Given the description of an element on the screen output the (x, y) to click on. 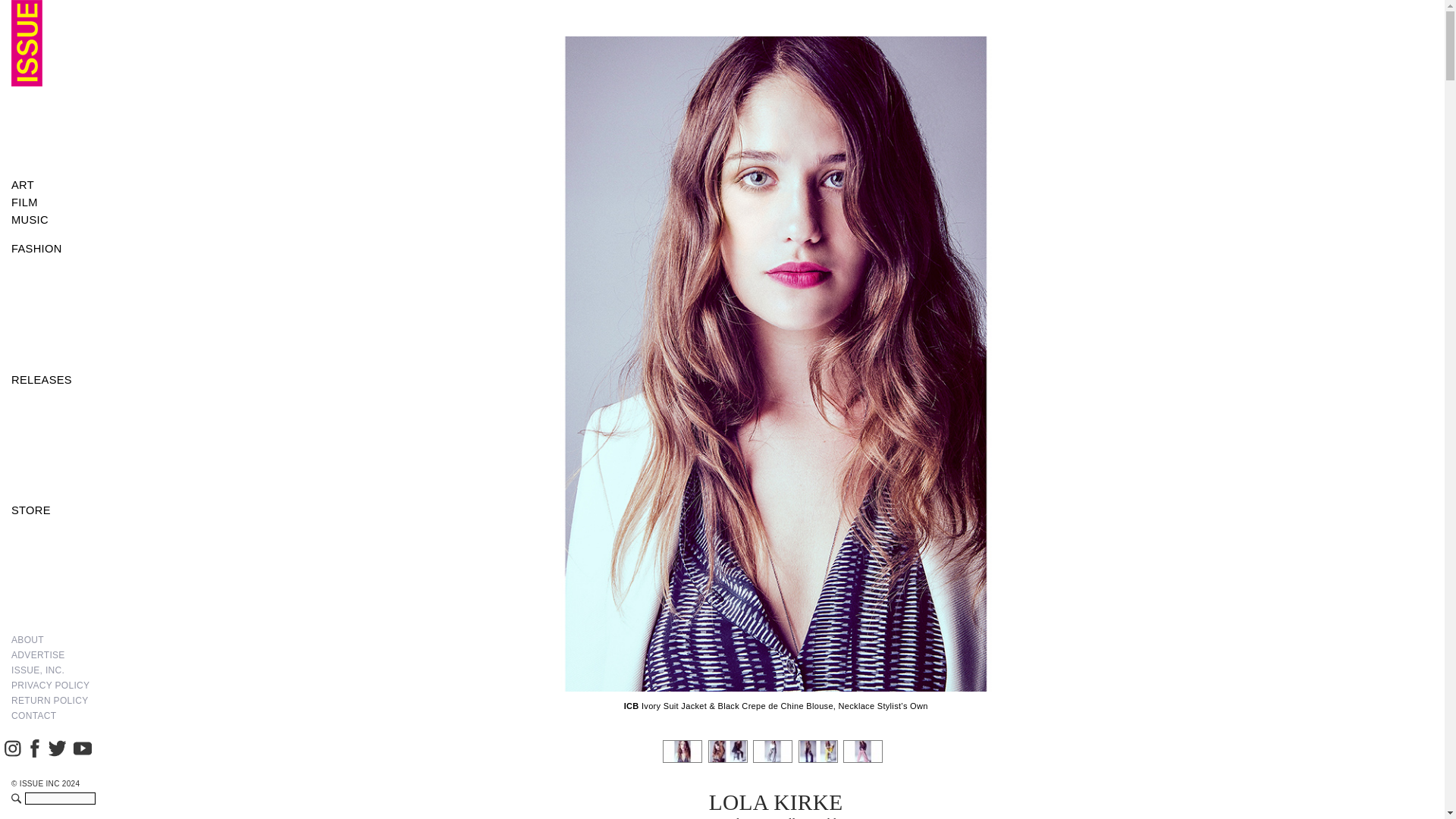
RELEASES (53, 380)
FASHION (53, 248)
STORE (53, 510)
MUSIC (53, 220)
ART (53, 185)
FILM (53, 202)
